Given the description of an element on the screen output the (x, y) to click on. 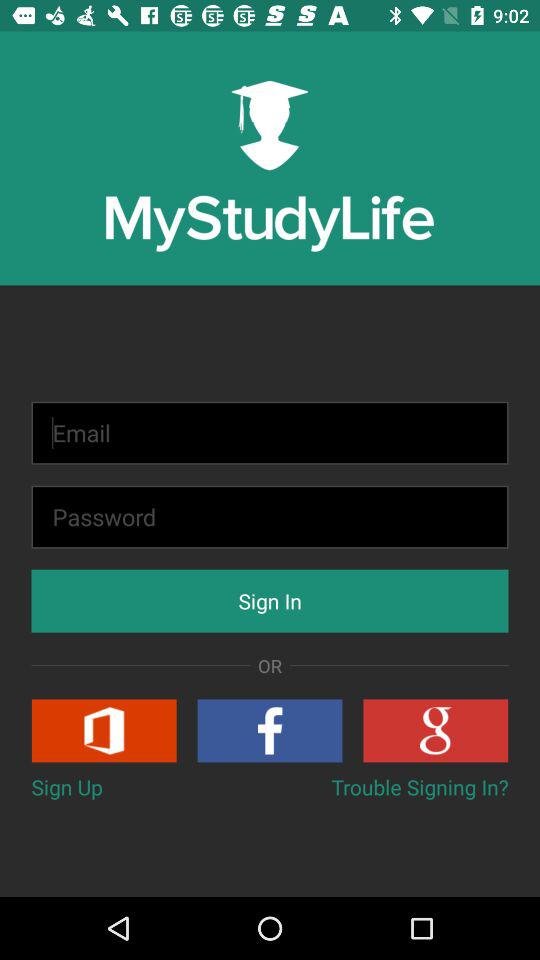
sign in using your google account (435, 730)
